Given the description of an element on the screen output the (x, y) to click on. 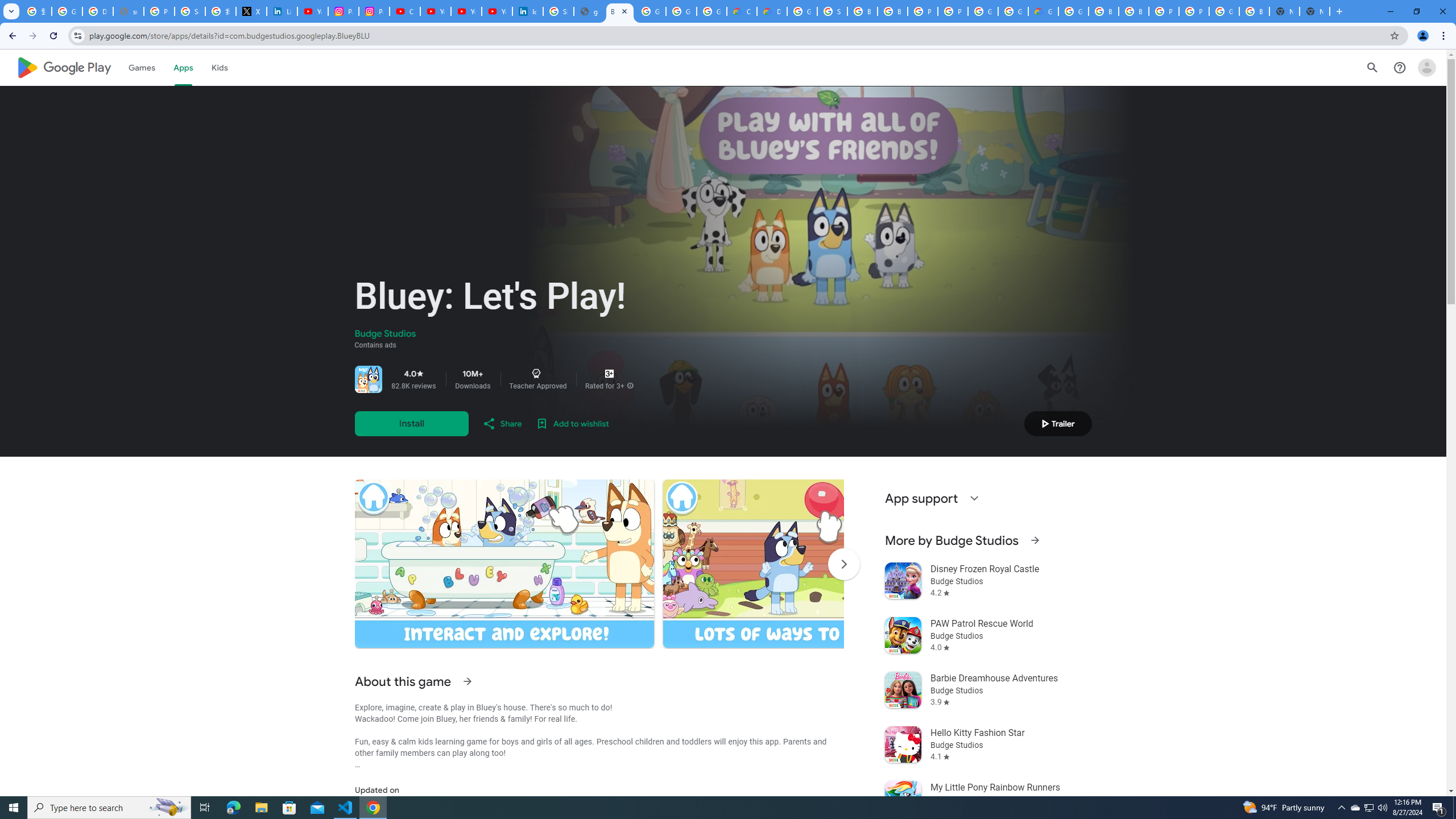
Budge Studios (384, 333)
Bluey: Let's Play! - Apps on Google Play (619, 11)
Kids (219, 67)
support.google.com - Network error (127, 11)
Scroll Next (843, 563)
